Given the description of an element on the screen output the (x, y) to click on. 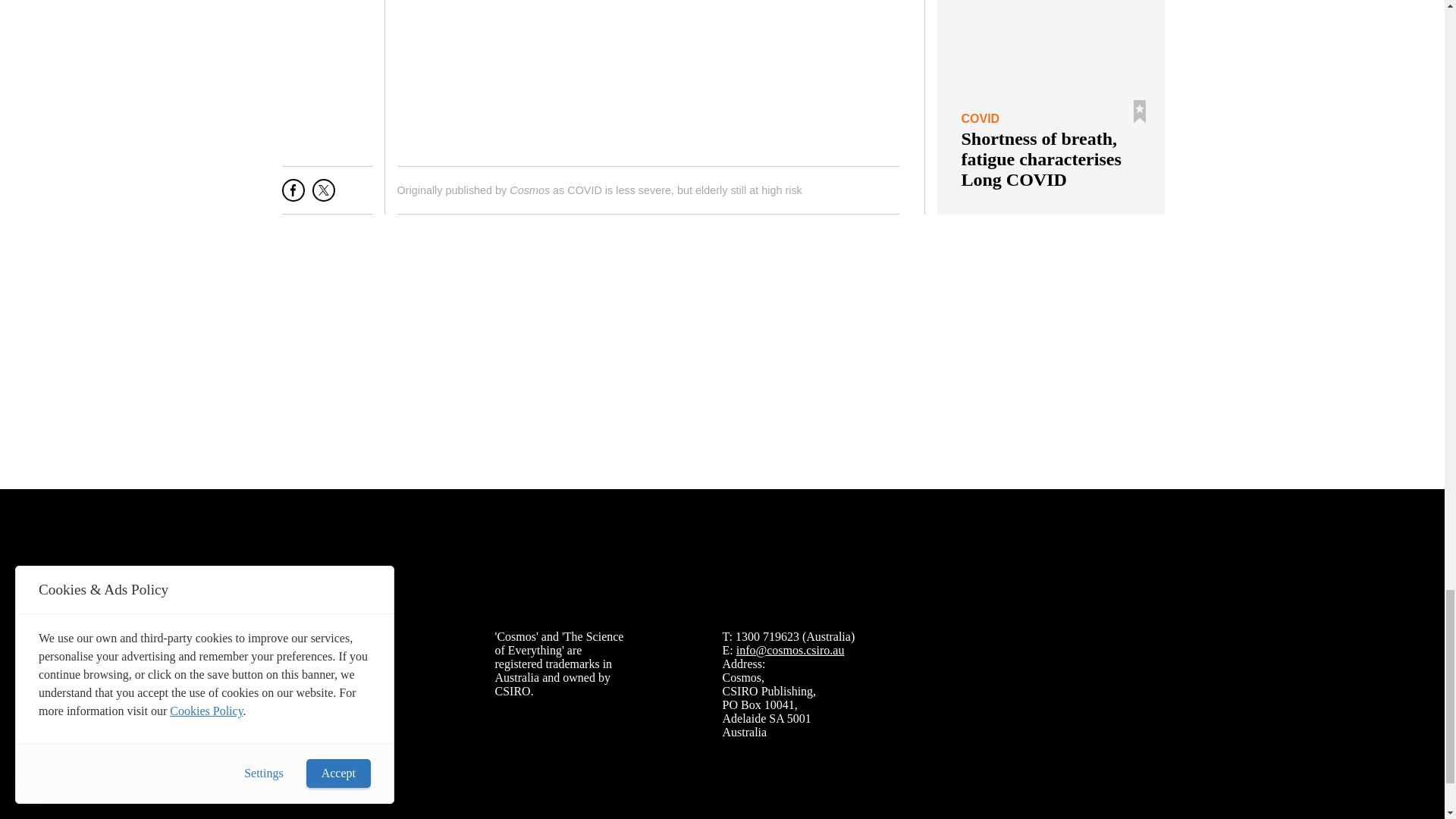
Share on Facebook (293, 195)
Tweet (323, 195)
COVID is less severe, but elderly still at high risk (684, 190)
covid is less severe, but elderly still at high risk 2 (647, 74)
